Given the description of an element on the screen output the (x, y) to click on. 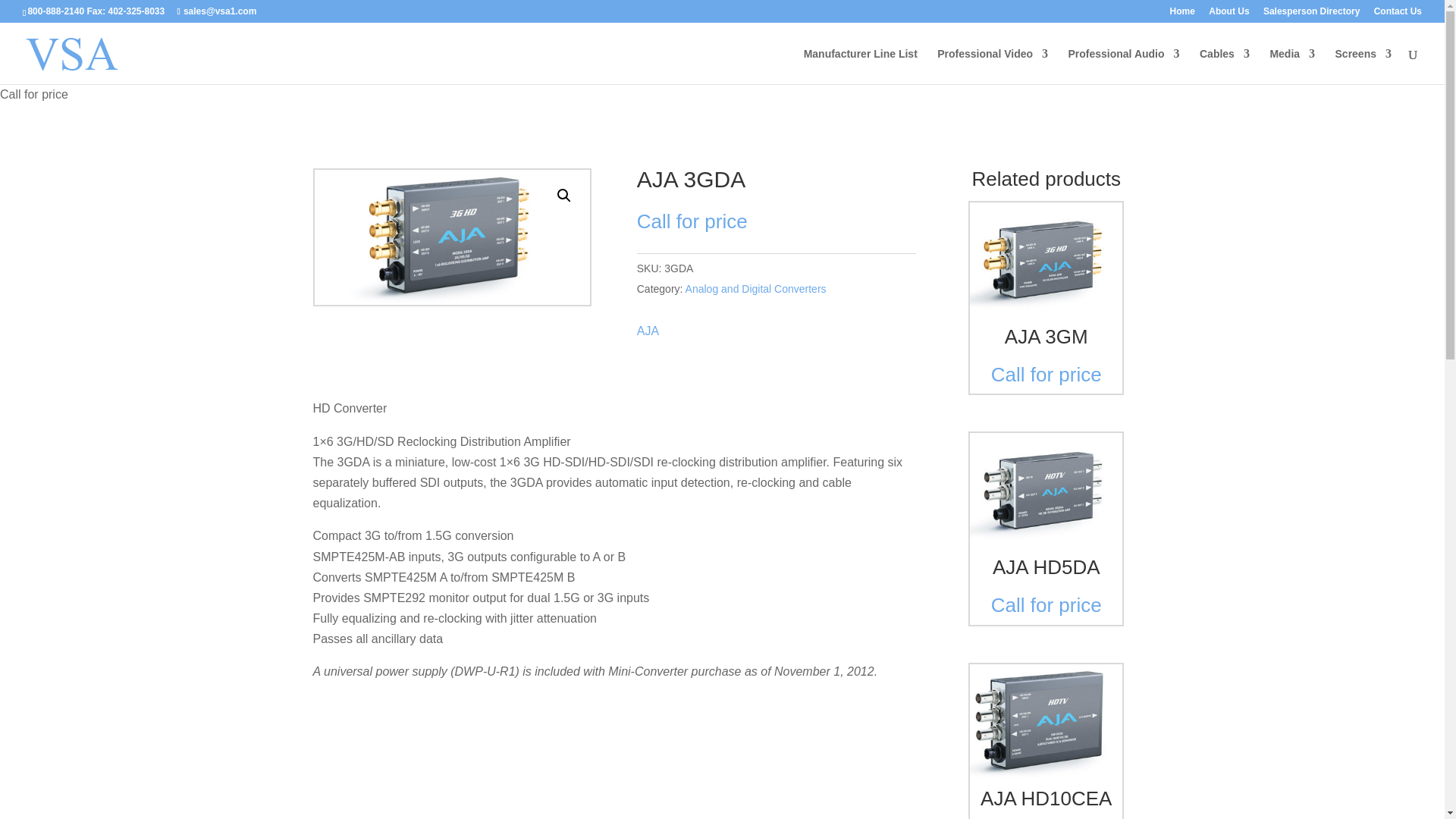
Salesperson Directory (1311, 14)
Manufacturer Line List (860, 66)
Contact Us (1398, 14)
Home (1182, 14)
Professional Video (992, 66)
Professional Audio (1123, 66)
About Us (1228, 14)
